Given the description of an element on the screen output the (x, y) to click on. 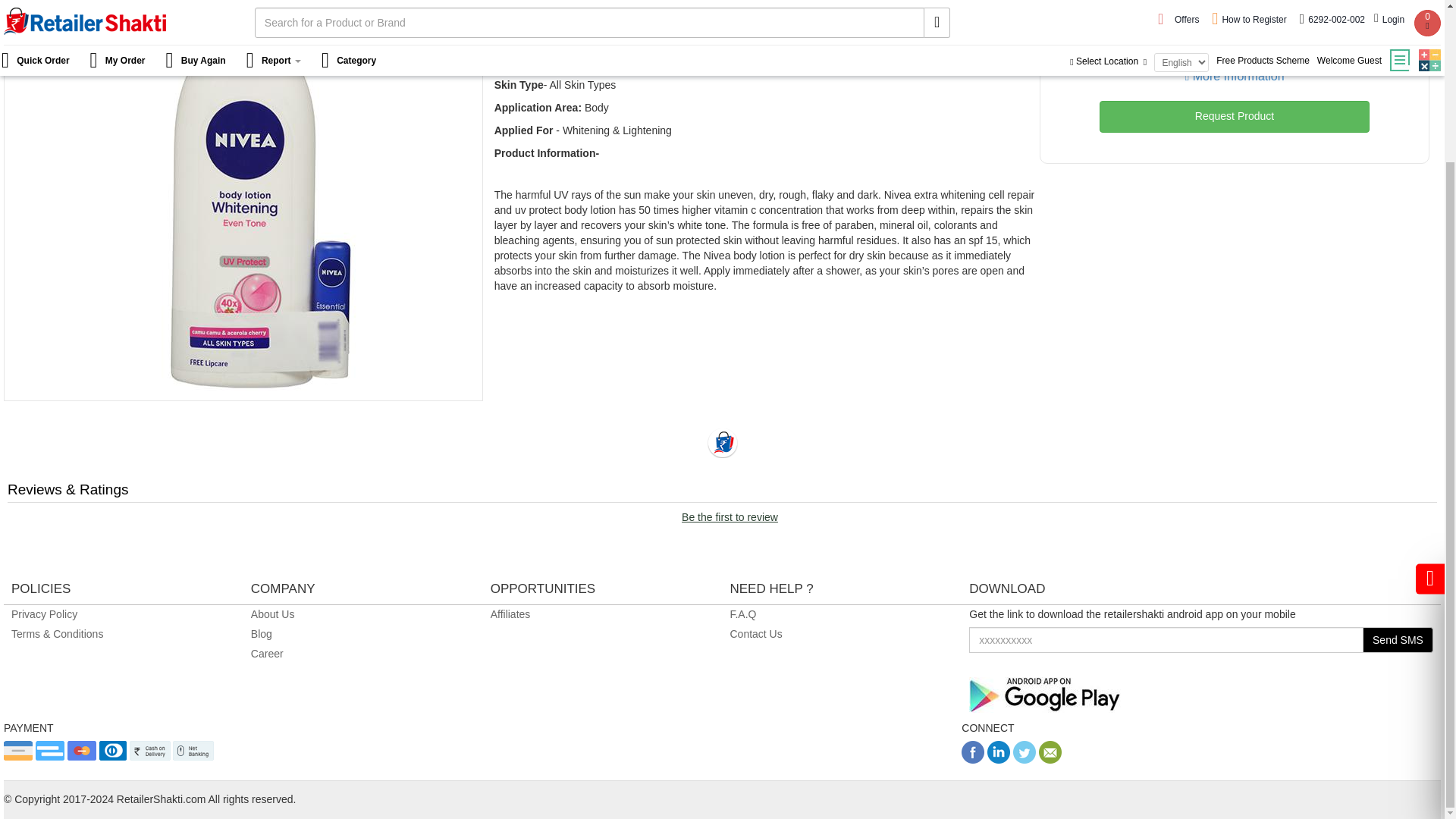
Twitter (1024, 759)
Linkedin (998, 759)
Loading.. (721, 442)
Facebook (972, 759)
More Information (1234, 75)
